Given the description of an element on the screen output the (x, y) to click on. 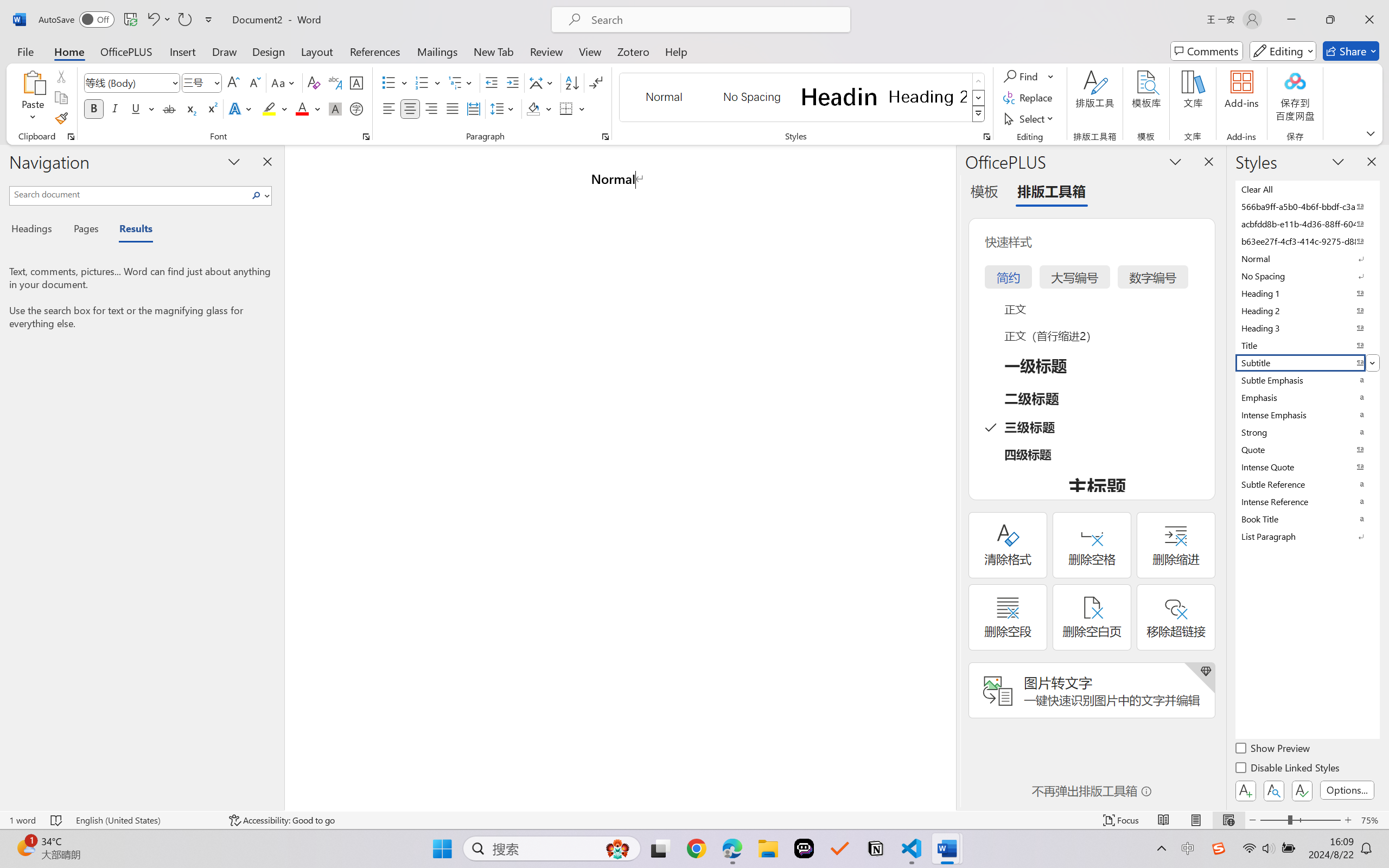
Class: NetUIScrollBar (948, 477)
Spelling and Grammar Check No Errors (56, 819)
Subscript (190, 108)
Intense Emphasis (1306, 414)
Read Mode (1163, 819)
Shrink Font (253, 82)
Accessibility Checker Accessibility: Good to go (282, 819)
Class: Image (1218, 847)
Open (215, 82)
Grow Font (233, 82)
Share (1350, 51)
Heading 1 (839, 96)
Font (132, 82)
